Given the description of an element on the screen output the (x, y) to click on. 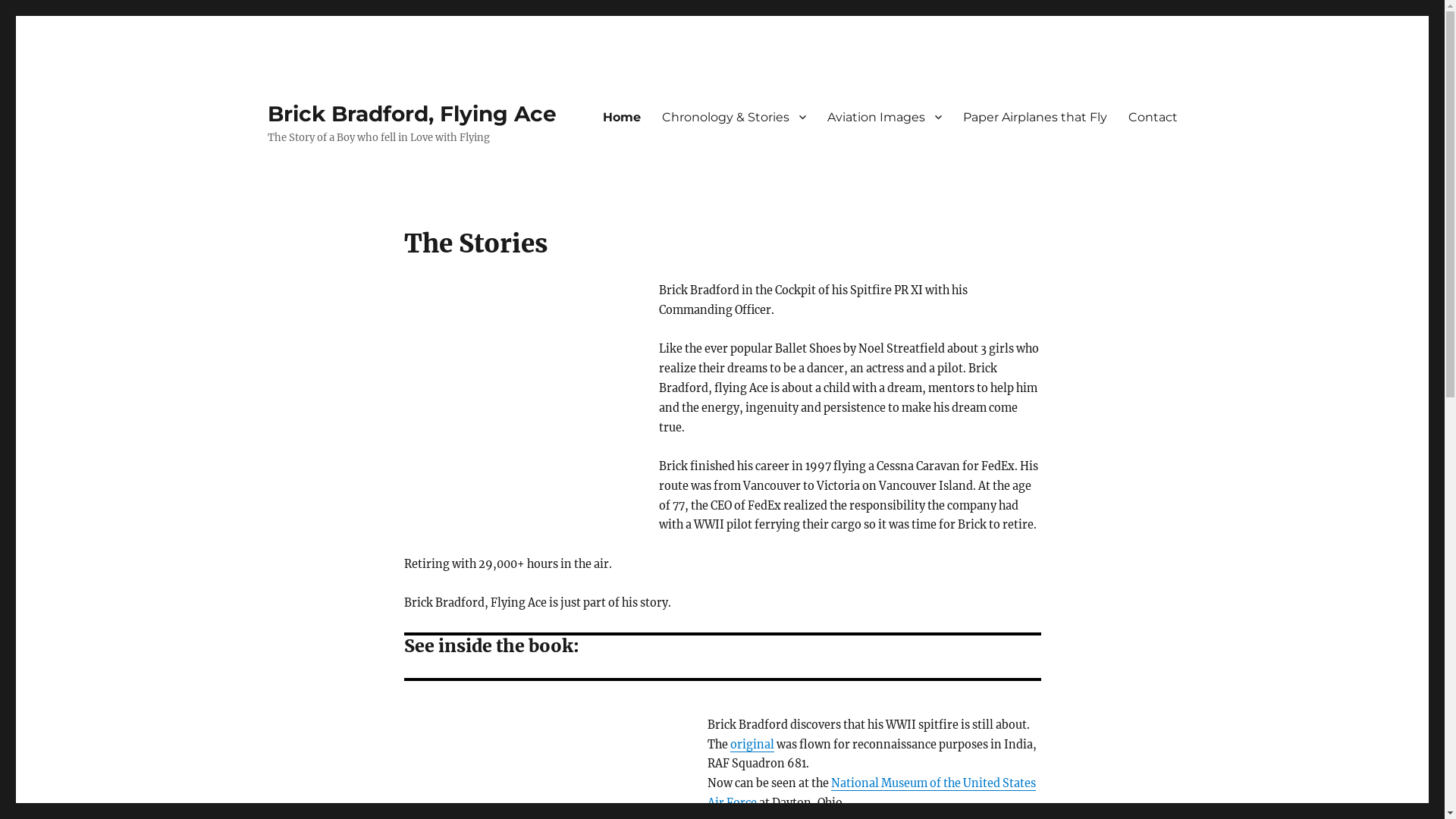
Chronology & Stories Element type: text (732, 116)
original Element type: text (752, 744)
Aviation Images Element type: text (883, 116)
Home Element type: text (620, 116)
Paper Airplanes that Fly Element type: text (1034, 116)
Brick Bradford, Flying Ace Element type: text (410, 113)
Contact Element type: text (1152, 116)
National Museum of the United States Air Force Element type: text (871, 792)
